Given the description of an element on the screen output the (x, y) to click on. 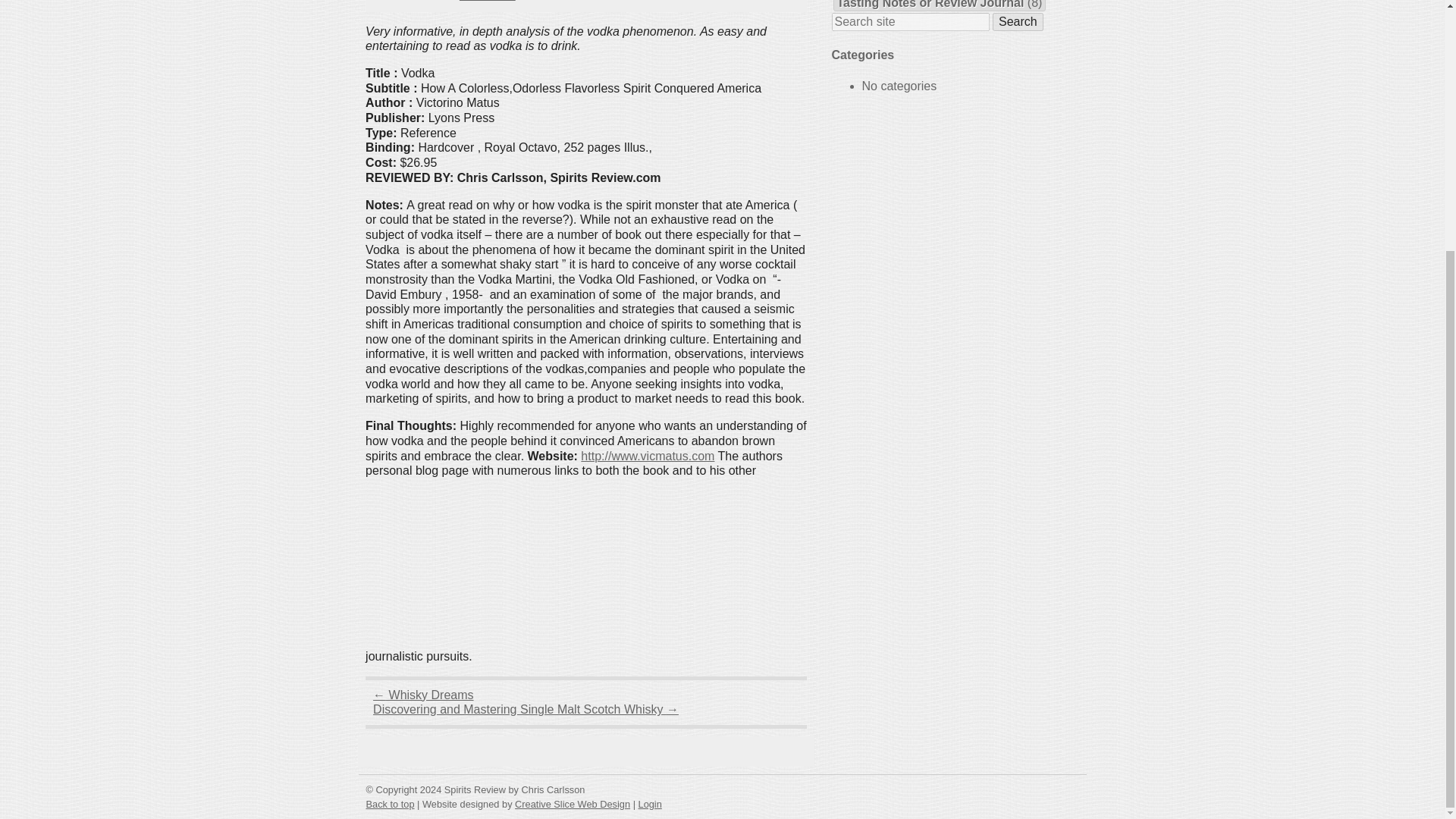
Search (1017, 22)
Search (1017, 22)
Reference (487, 0)
Back to top (389, 803)
Tasting Notes or Review Journal (931, 4)
Creative Slice Web Design (572, 803)
Login (650, 803)
